Given the description of an element on the screen output the (x, y) to click on. 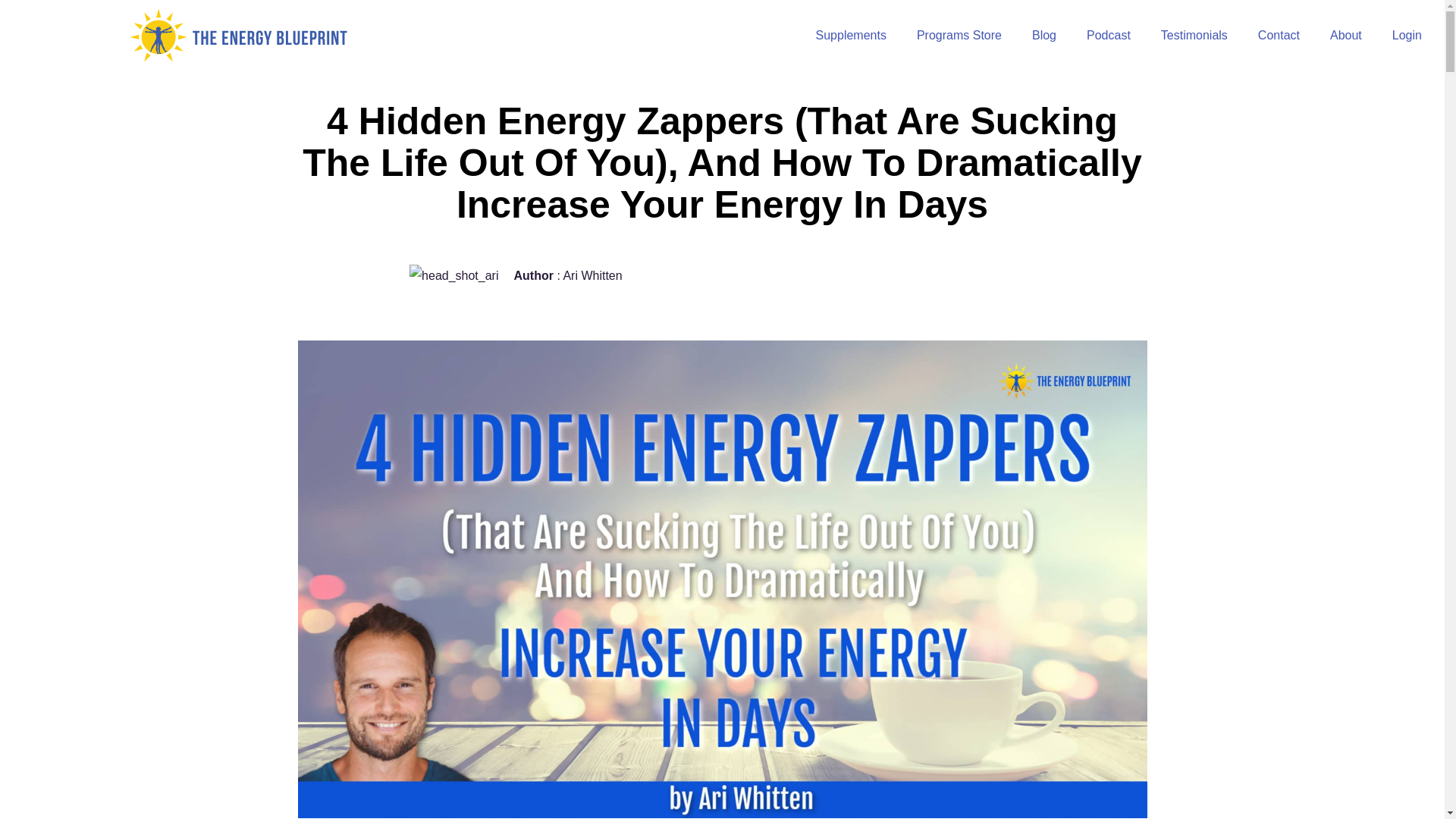
About (1345, 35)
Programs Store (958, 35)
Blog (1043, 35)
Contact (1278, 35)
Podcast (1108, 35)
Login (1407, 35)
Supplements (850, 35)
Testimonials (1194, 35)
